Given the description of an element on the screen output the (x, y) to click on. 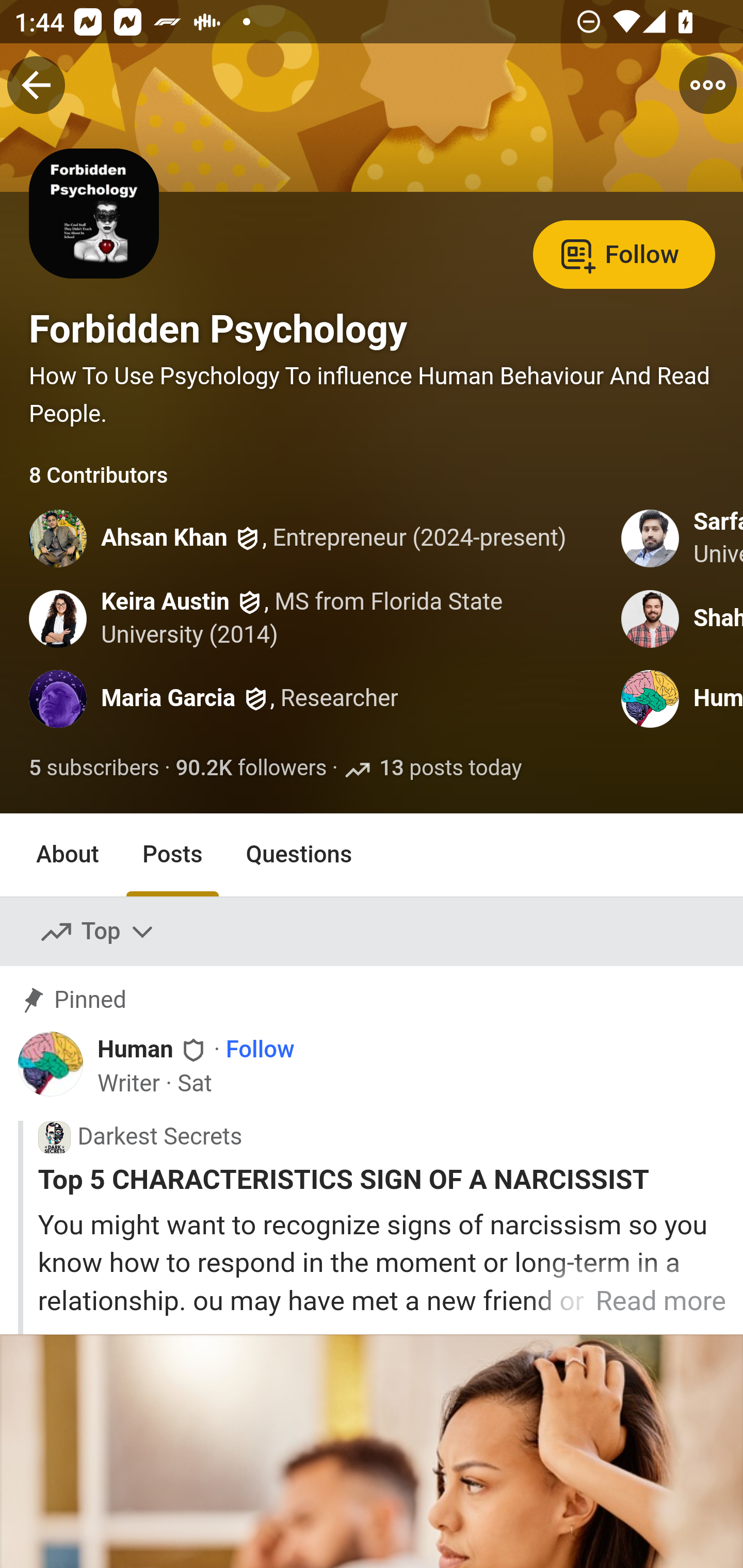
Follow (623, 252)
Forbidden Psychology (217, 329)
Profile photo for Ahsan Khan (58, 538)
Profile photo for Sarfaraz Ali (650, 538)
Ahsan Khan (164, 539)
Keira Austin (166, 601)
Profile photo for Keira Austin (58, 617)
Profile photo for Shahzad Sultan (650, 617)
Profile photo for Maria Garcia (58, 699)
Profile photo for Human (650, 699)
Maria Garcia (168, 699)
5 subscribers (94, 768)
90.2K followers (251, 768)
About (68, 854)
Posts (171, 854)
Questions (299, 854)
Top (97, 931)
Profile photo for Human (50, 1063)
Human Human   (153, 1049)
Follow (259, 1051)
Sat (194, 1083)
Icon for Darkest Secrets (54, 1137)
Top 5 CHARACTERISTICS SIGN OF A NARCISSIST (381, 1179)
